Given the description of an element on the screen output the (x, y) to click on. 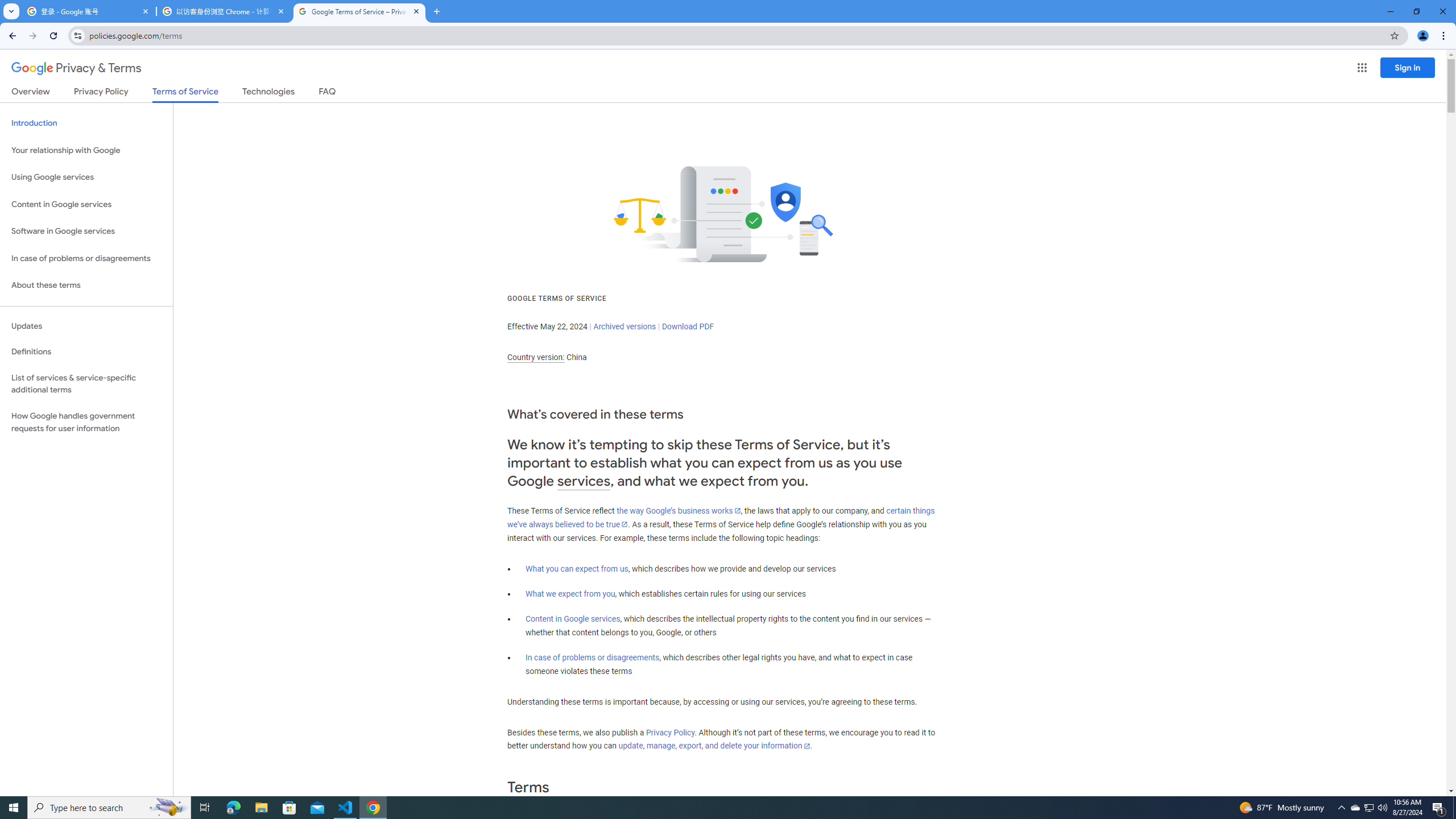
Download PDF (687, 326)
Software in Google services (86, 230)
update, manage, export, and delete your information (714, 746)
About these terms (86, 284)
